Given the description of an element on the screen output the (x, y) to click on. 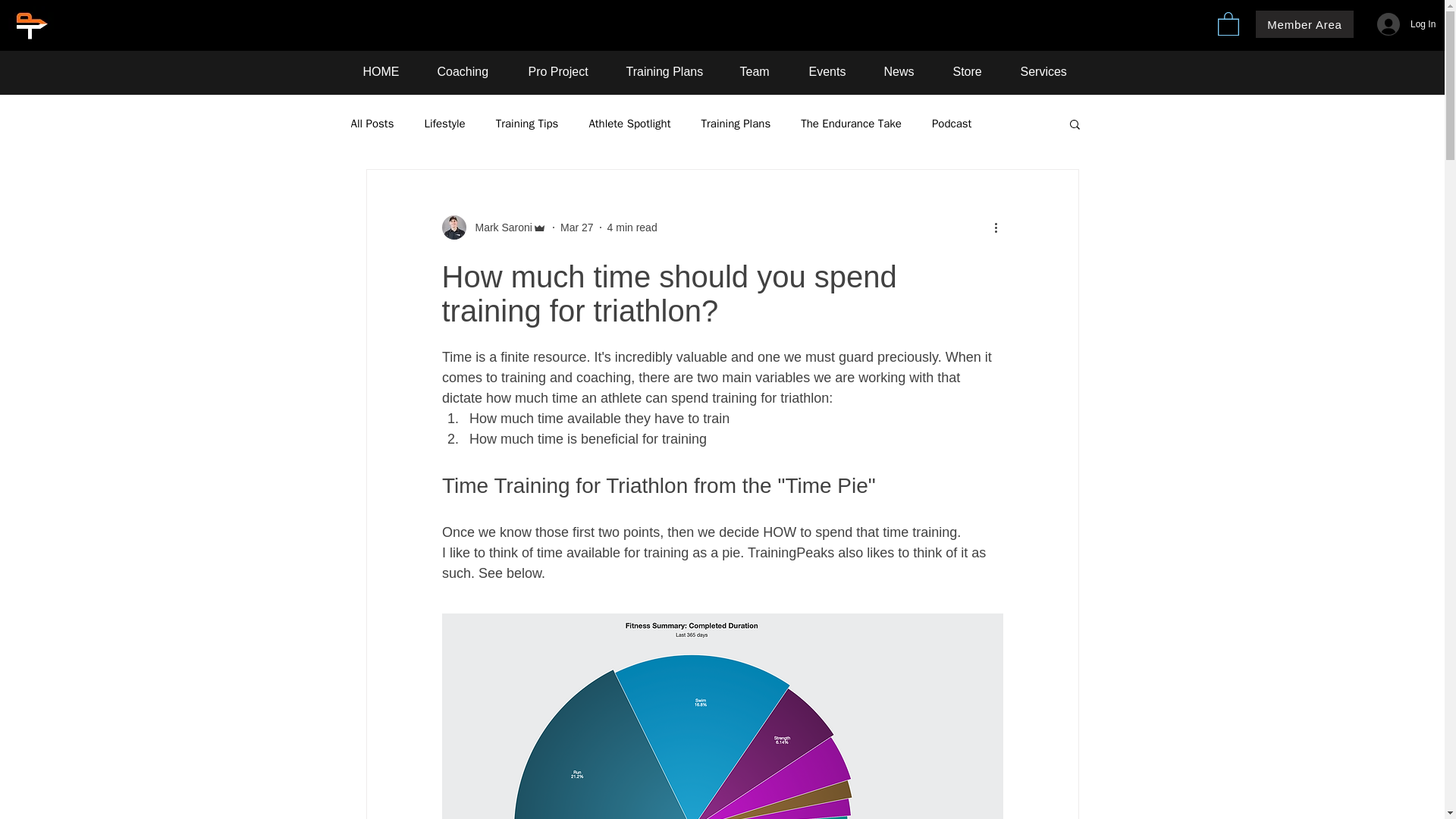
All Posts (371, 124)
4 min read (632, 227)
News (906, 76)
Training Plans (735, 124)
Member Area (1304, 23)
Team (762, 76)
Podcast (951, 124)
Training Tips (527, 124)
HOME (389, 76)
Mark Saroni (498, 227)
Log In (1388, 24)
Lifestyle (443, 124)
Services (1051, 76)
Mar 27 (577, 227)
Store (975, 76)
